Given the description of an element on the screen output the (x, y) to click on. 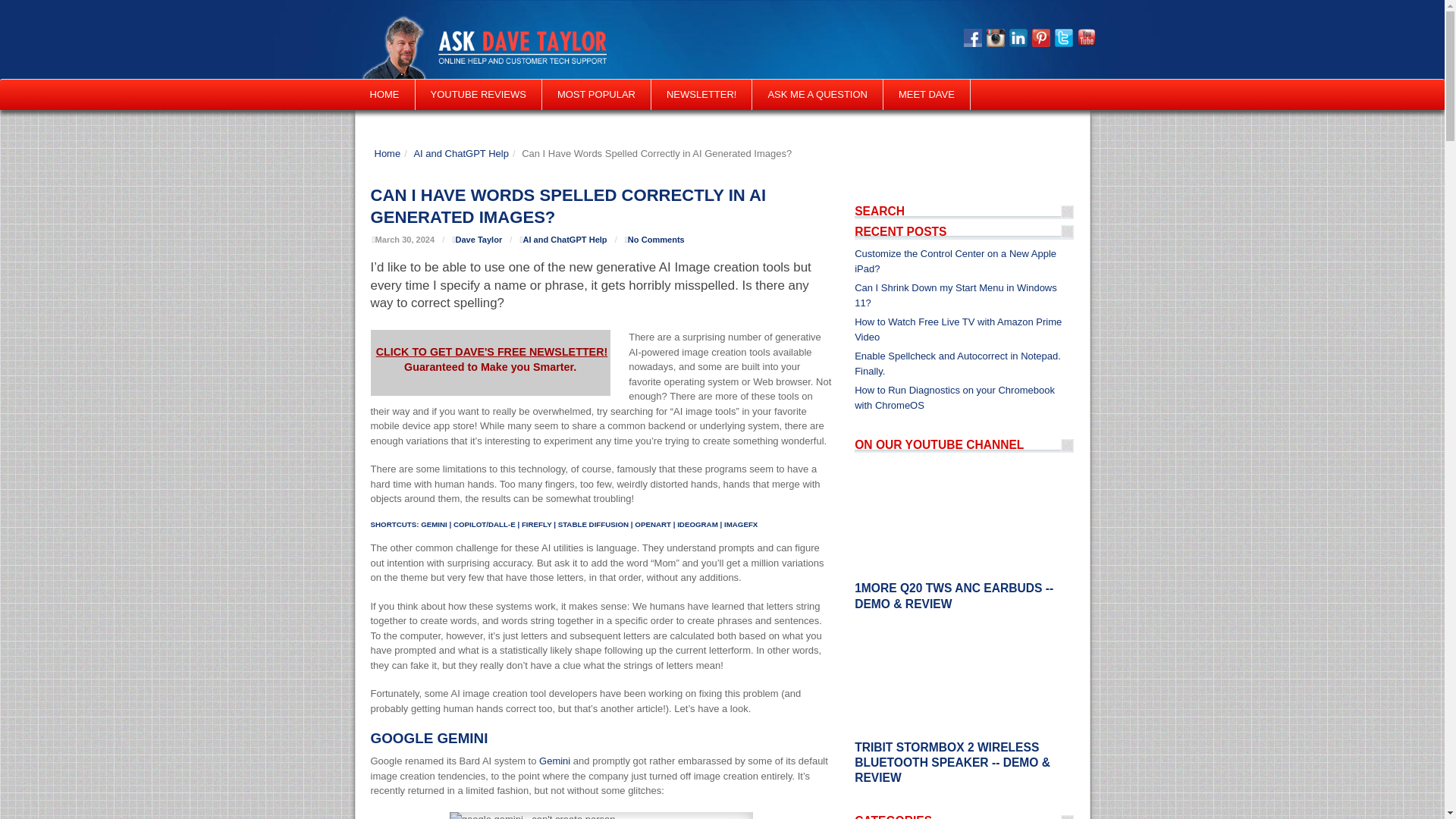
Linkedin (1017, 37)
Instagram (994, 37)
Home (387, 153)
No Comments (655, 239)
Pinterest (1039, 37)
Home (387, 153)
YouTube (1085, 37)
IDEOGRAM (697, 524)
OPENART (652, 524)
Dave Taylor (478, 239)
Twitter (1062, 37)
YouTube Video Player (964, 678)
AI and ChatGPT Help (460, 153)
AI and ChatGPT Help (460, 153)
Facebook (971, 37)
